Given the description of an element on the screen output the (x, y) to click on. 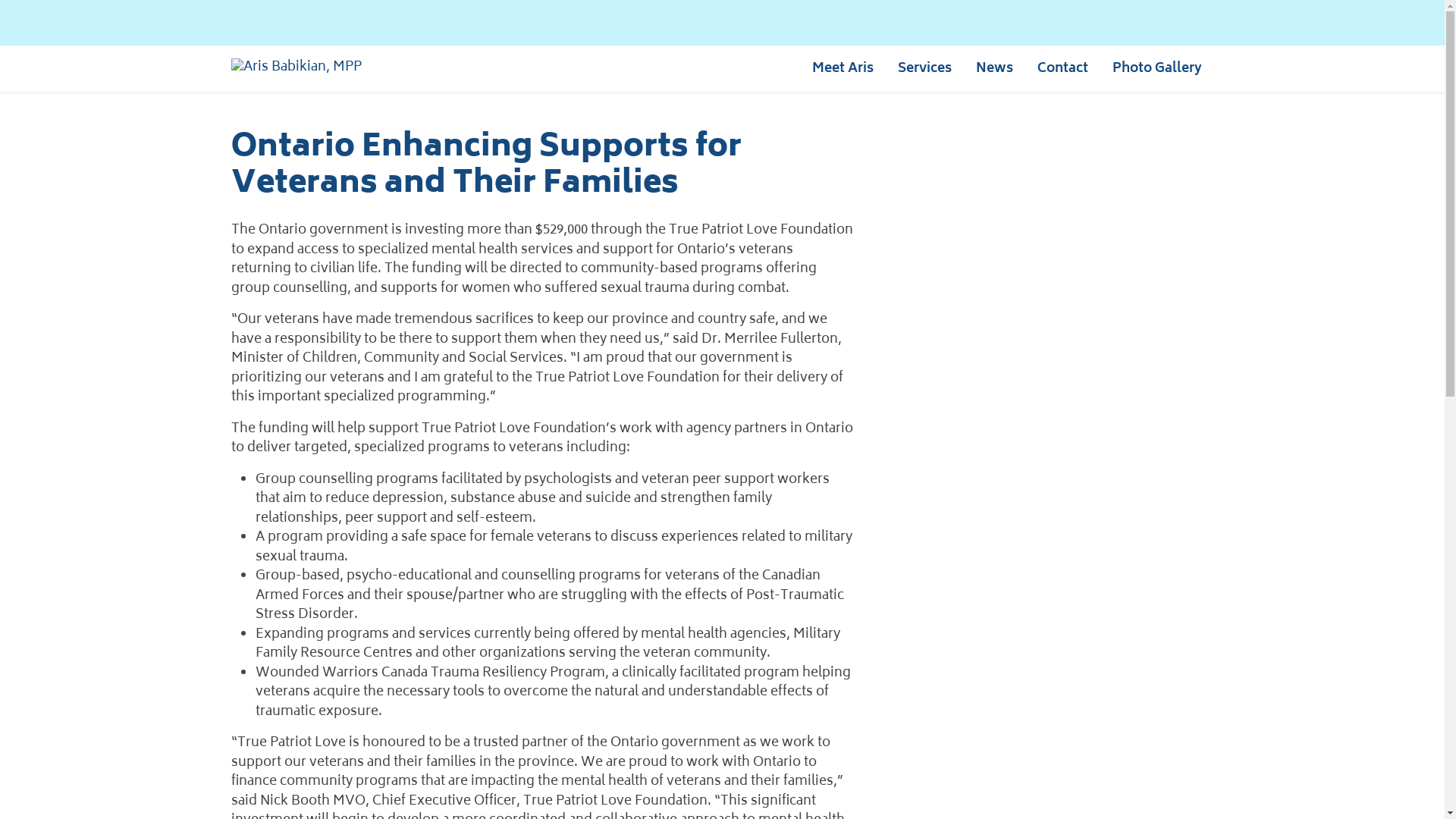
Contact Element type: text (1062, 68)
Meet Aris Element type: text (841, 68)
Photo Gallery Element type: text (1156, 68)
News Element type: text (993, 68)
Services Element type: text (924, 68)
